Given the description of an element on the screen output the (x, y) to click on. 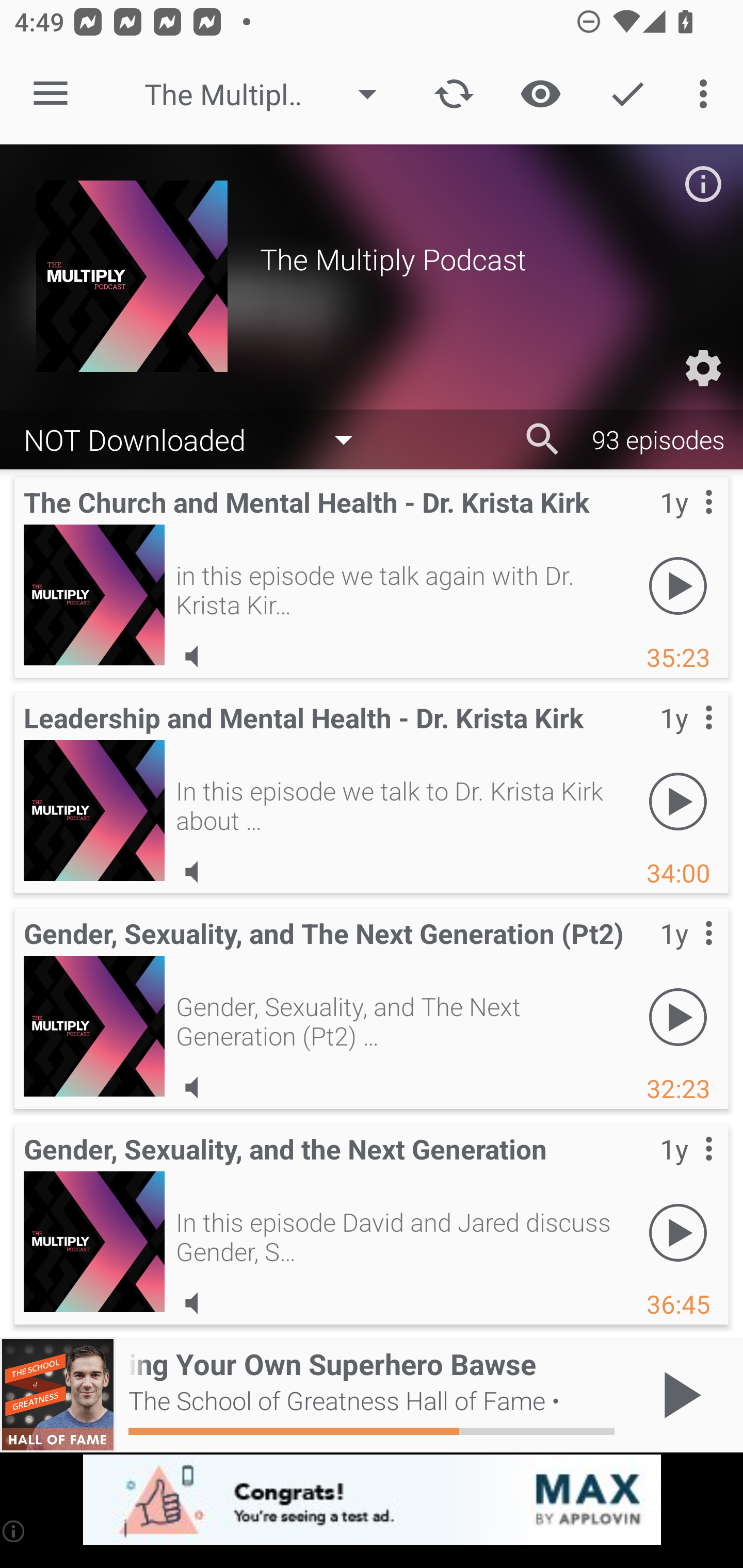
Open navigation sidebar (50, 93)
Update (453, 93)
Show / Hide played content (540, 93)
Action Mode (626, 93)
More options (706, 93)
The Multiply Podcast (270, 94)
Podcast description (703, 184)
Custom Settings (703, 368)
Search (542, 439)
NOT Downloaded (197, 438)
Contextual menu (685, 522)
The Church and Mental Health - Dr. Krista Kirk (93, 594)
Play (677, 585)
Contextual menu (685, 738)
Leadership and Mental Health - Dr. Krista Kirk (93, 810)
Play (677, 801)
Contextual menu (685, 954)
Gender, Sexuality, and The Next Generation (Pt2) (93, 1026)
Play (677, 1016)
Contextual menu (685, 1169)
Gender, Sexuality, and the Next Generation (93, 1241)
Play (677, 1232)
Play / Pause (677, 1394)
app-monetization (371, 1500)
(i) (14, 1531)
